Given the description of an element on the screen output the (x, y) to click on. 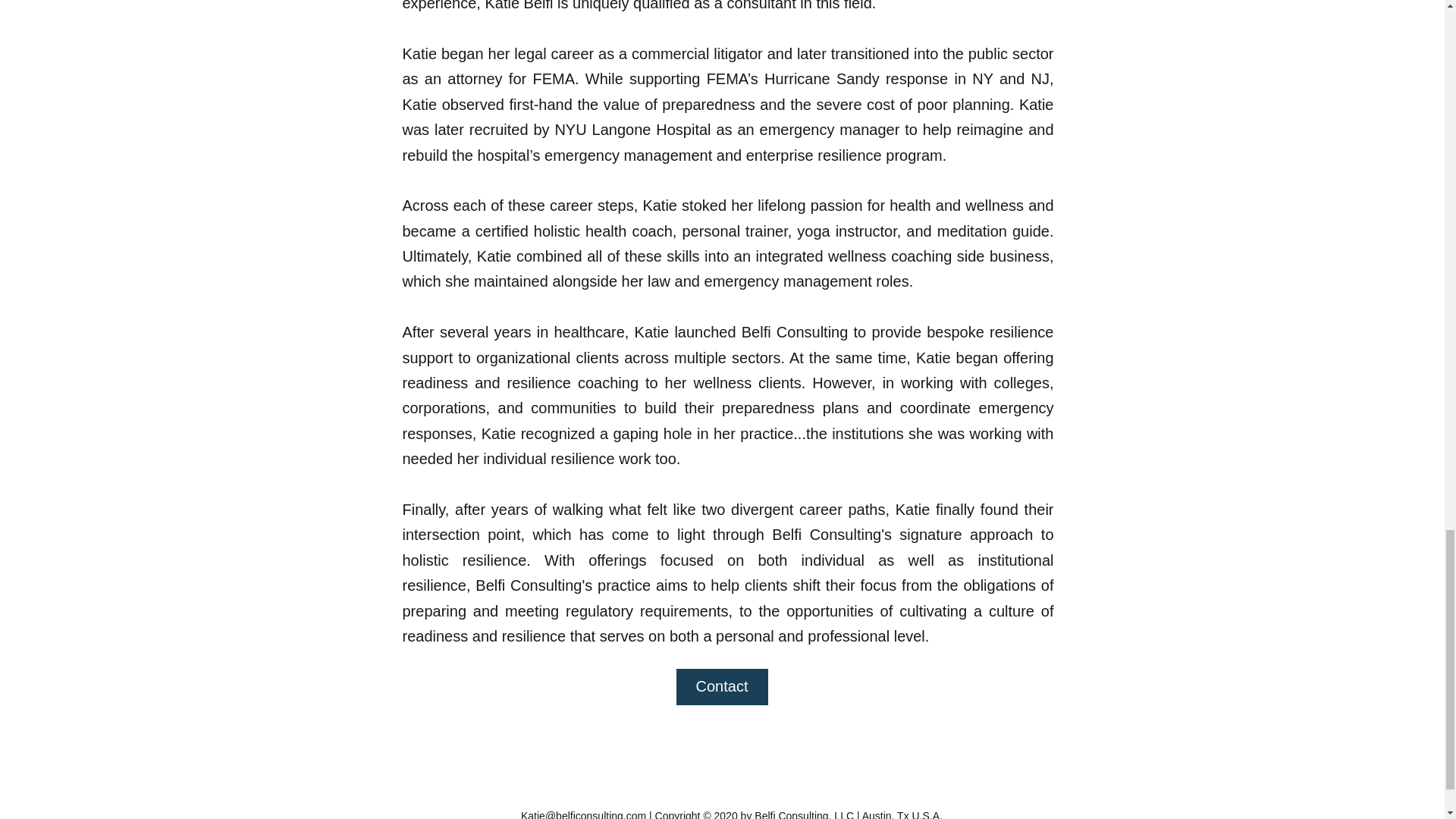
Contact (722, 687)
